Given the description of an element on the screen output the (x, y) to click on. 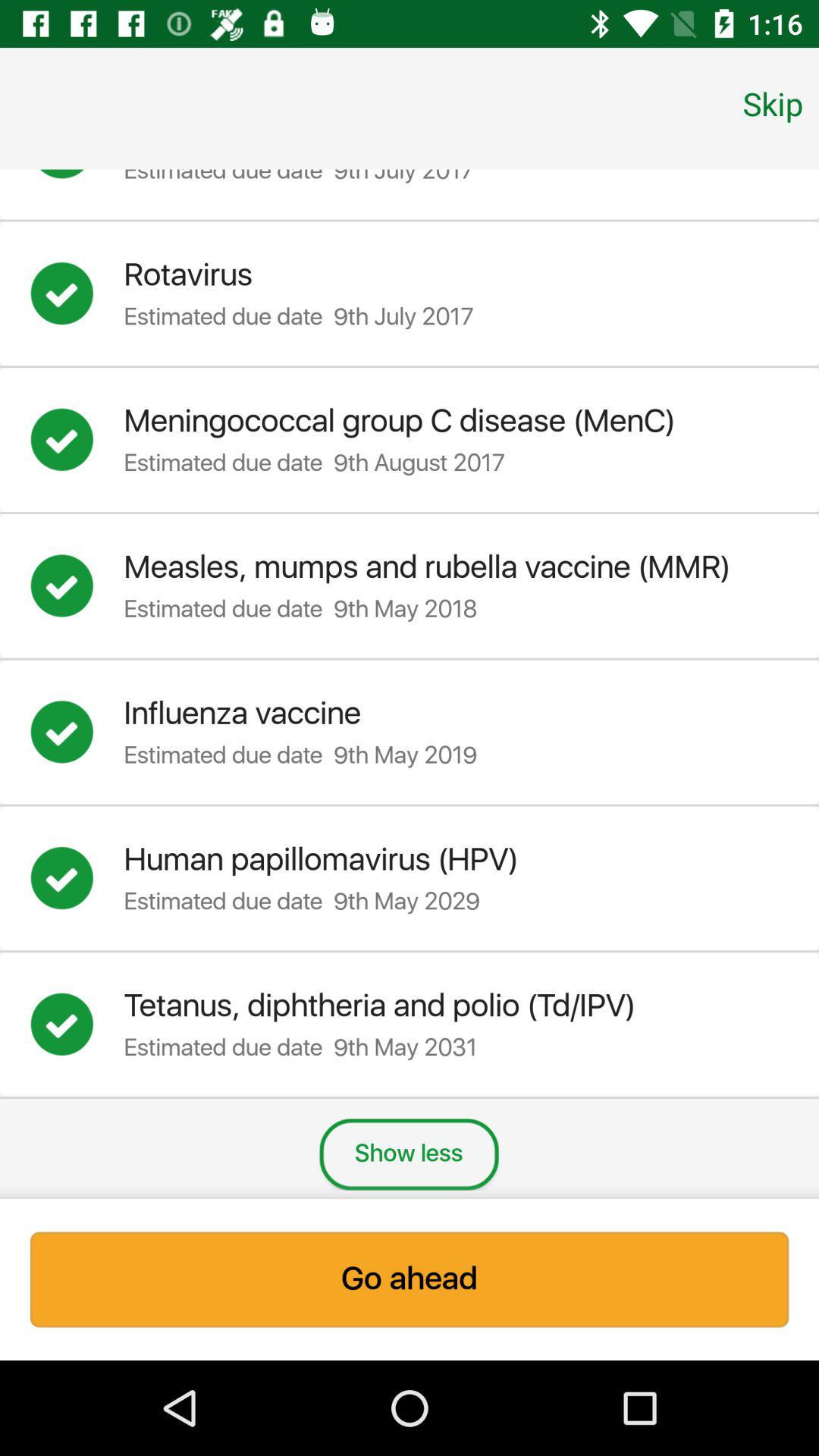
ok (76, 1024)
